Given the description of an element on the screen output the (x, y) to click on. 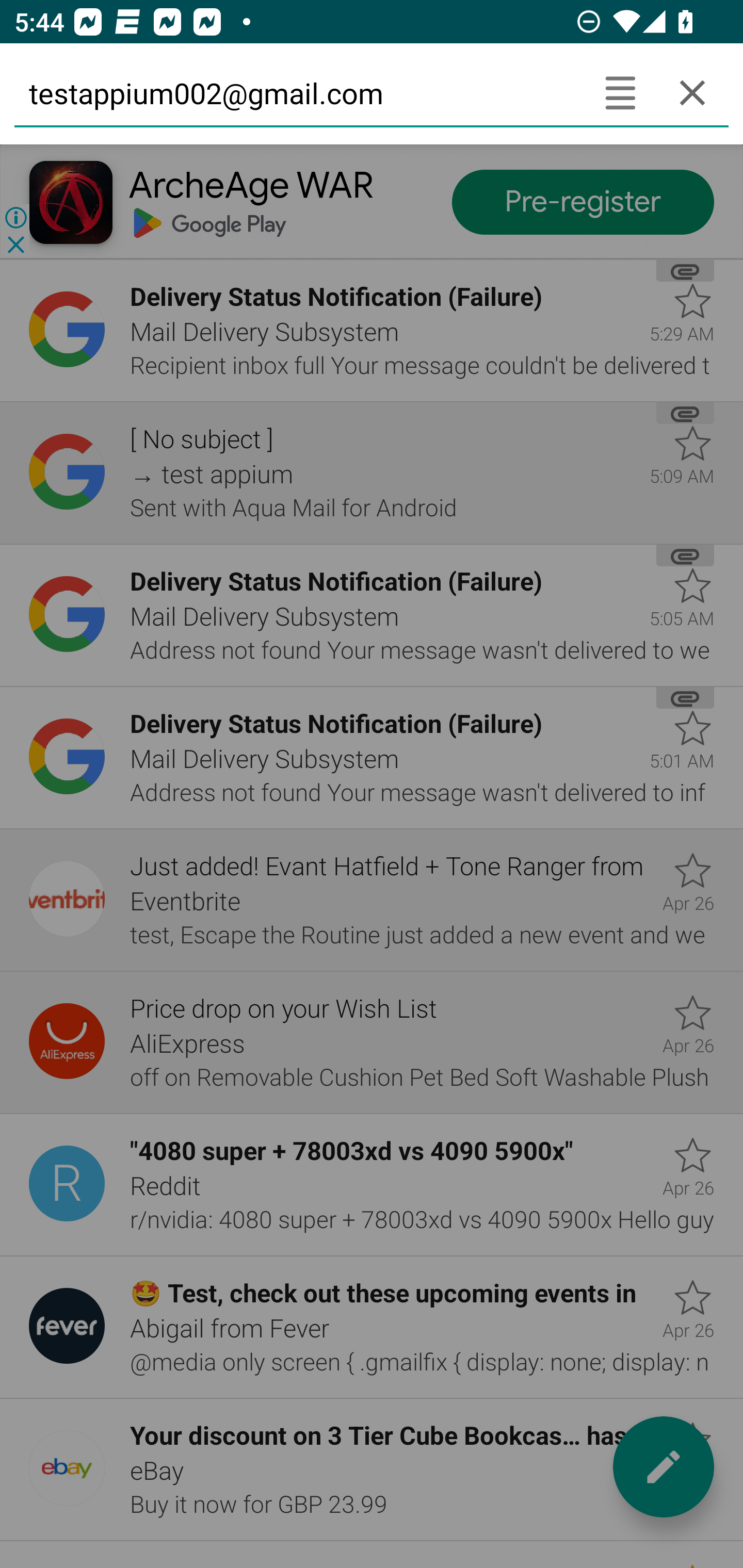
testappium002@gmail.com (298, 92)
Search headers only (619, 92)
Cancel (692, 92)
